Given the description of an element on the screen output the (x, y) to click on. 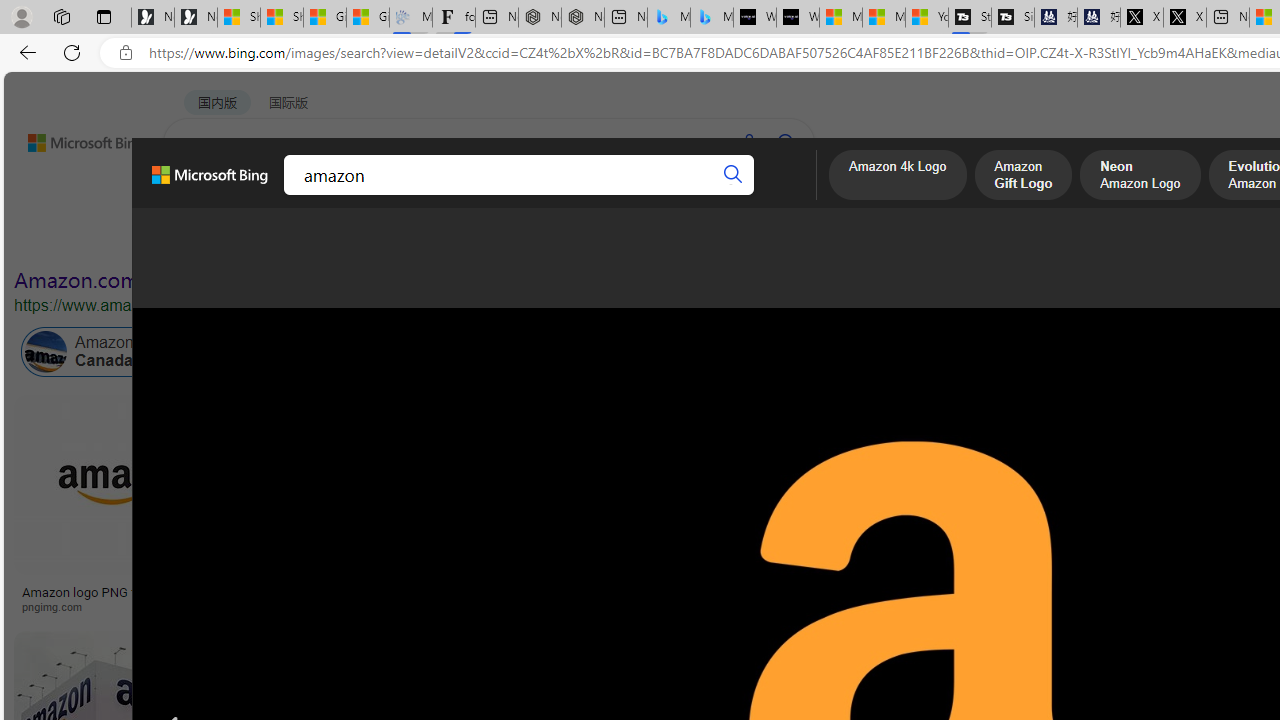
Amazon India (850, 351)
Amazon Echo Dot 4th Gen (1087, 465)
usatoday.com (545, 605)
Amazon India (893, 351)
Amazon Animals (749, 351)
pngimg.com (123, 606)
Type (373, 237)
Microsoft Bing, Back to Bing search (209, 183)
Listen: What's next for Amazon? (596, 592)
Dropdown Menu (779, 195)
